Given the description of an element on the screen output the (x, y) to click on. 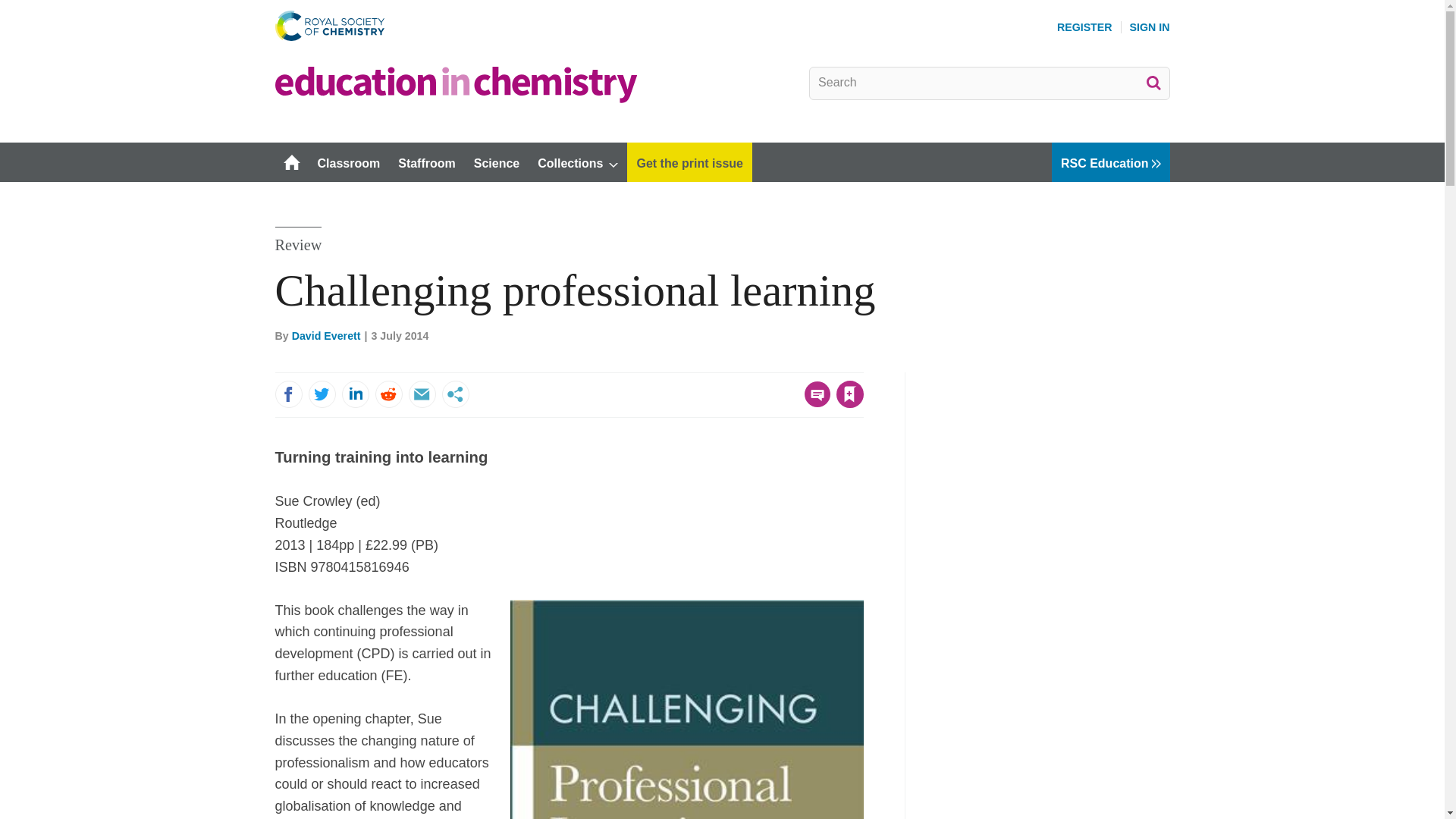
Collections (577, 161)
SEARCH (1152, 82)
Share this by email (421, 393)
Share this on LinkedIn (354, 393)
Share this on Twitter (320, 393)
More share options (454, 393)
Classroom (347, 161)
SIGN IN (1149, 27)
No comments (812, 403)
Staffroom (426, 161)
Share this on Reddit (387, 393)
REGISTER (1084, 27)
Share this on Facebook (288, 393)
Science (496, 161)
